Given the description of an element on the screen output the (x, y) to click on. 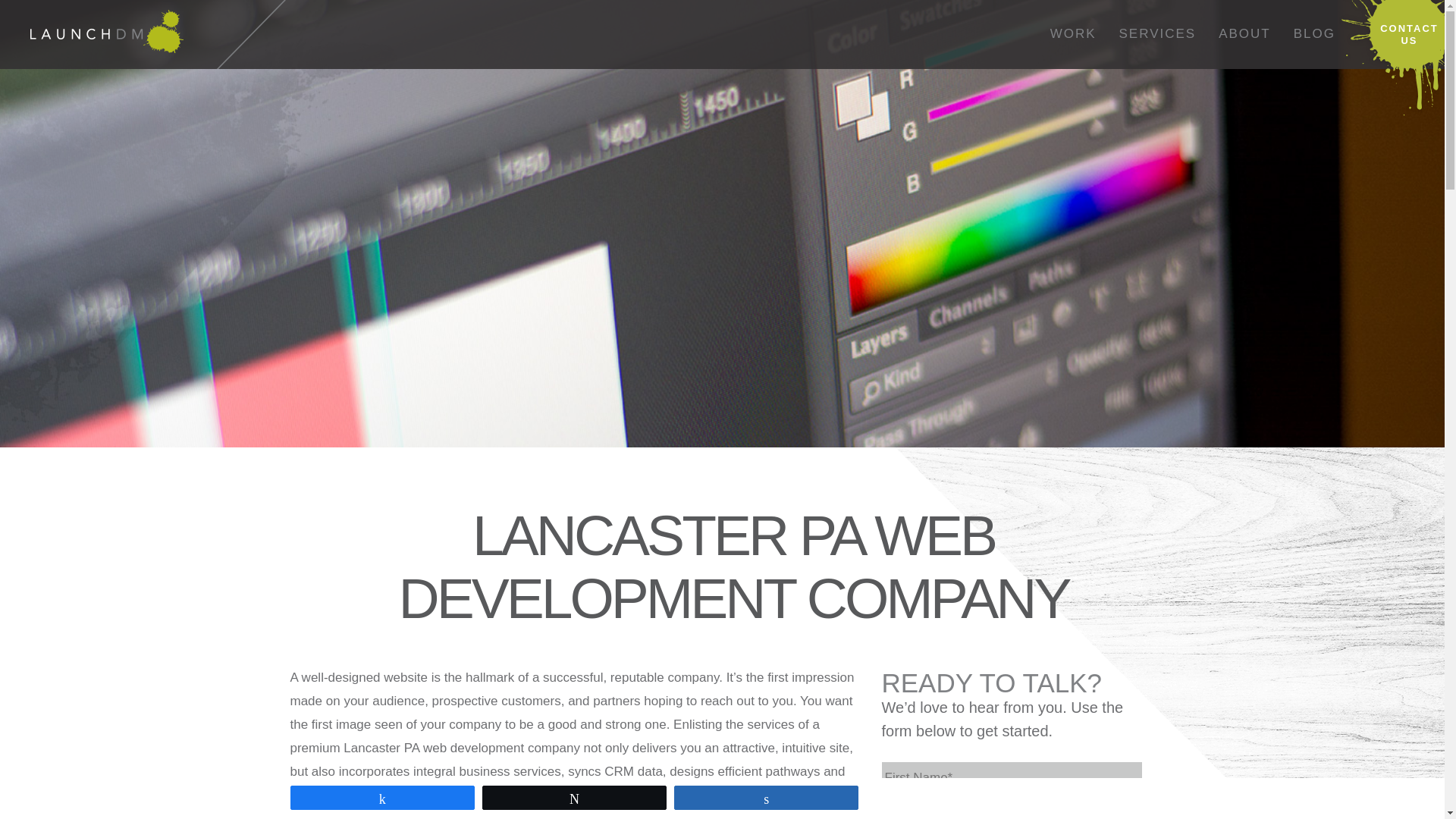
Blog (1314, 34)
ABOUT (1244, 34)
WORK (1073, 34)
BLOG (1314, 34)
Services (1158, 34)
Work (1073, 34)
SERVICES (1158, 34)
About (1244, 34)
